Given the description of an element on the screen output the (x, y) to click on. 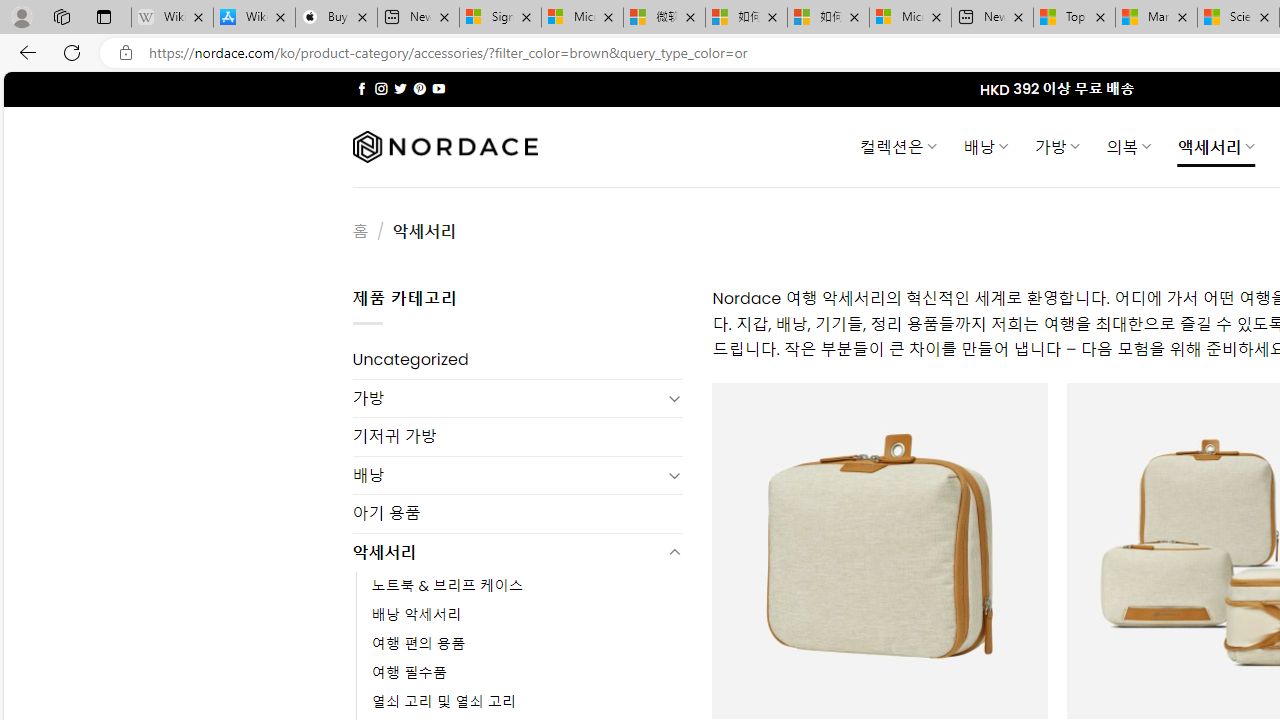
Follow on Twitter (400, 88)
Marine life - MSN (1156, 17)
Follow on Instagram (381, 88)
